Given the description of an element on the screen output the (x, y) to click on. 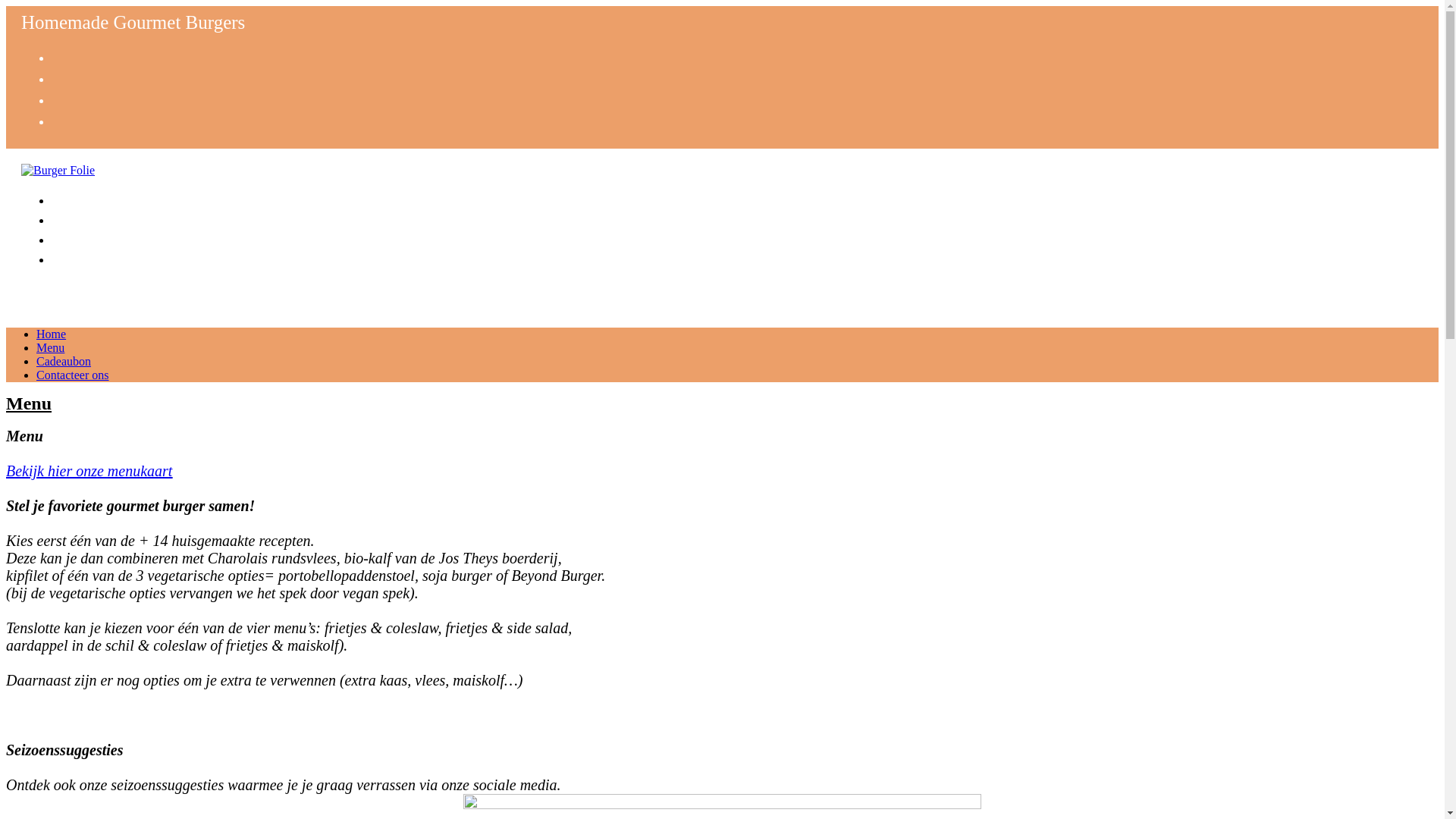
Menu Close Element type: text (61, 289)
Contacteer Ons Element type: text (102, 257)
Menu Element type: text (50, 347)
Menu Element type: text (28, 403)
Skip to content Element type: text (5, 5)
Contacteer ons Element type: text (72, 374)
Cadeaubon Element type: text (63, 360)
Menu Element type: text (70, 218)
Home Element type: text (71, 198)
Home Element type: text (50, 333)
Cadeaubon Element type: text (88, 238)
Bekijk hier onze menukaart Element type: text (89, 470)
